Given the description of an element on the screen output the (x, y) to click on. 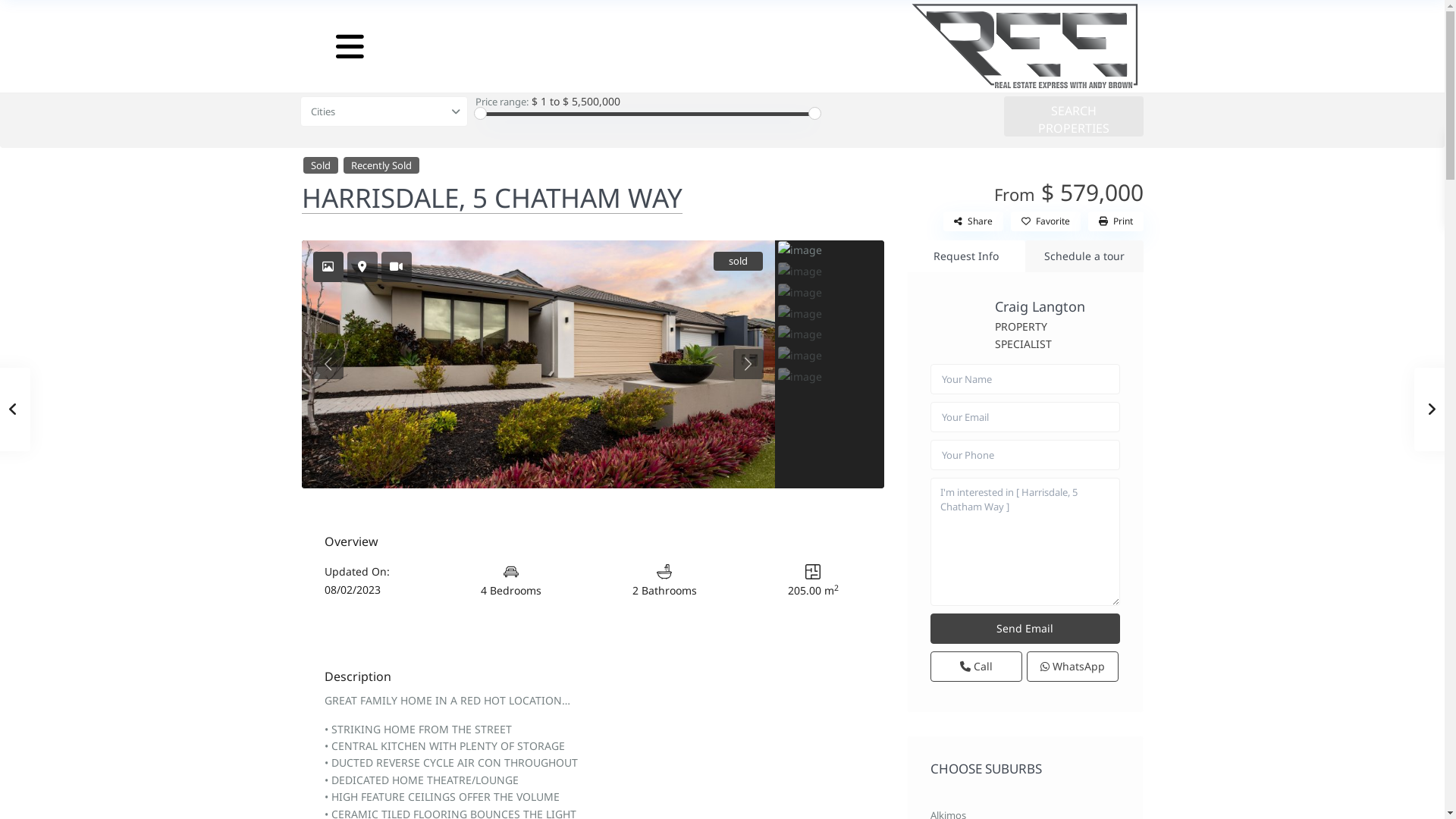
Call Element type: text (975, 666)
SEARCH PROPERTIES Element type: text (1073, 116)
WhatsApp Element type: text (1072, 666)
Sold Element type: text (320, 165)
Send Email Element type: text (1024, 628)
Craig Langton Element type: text (1039, 306)
Recently Sold Element type: text (380, 165)
Schedule a tour Element type: text (1084, 256)
Request Info Element type: text (965, 256)
